Given the description of an element on the screen output the (x, y) to click on. 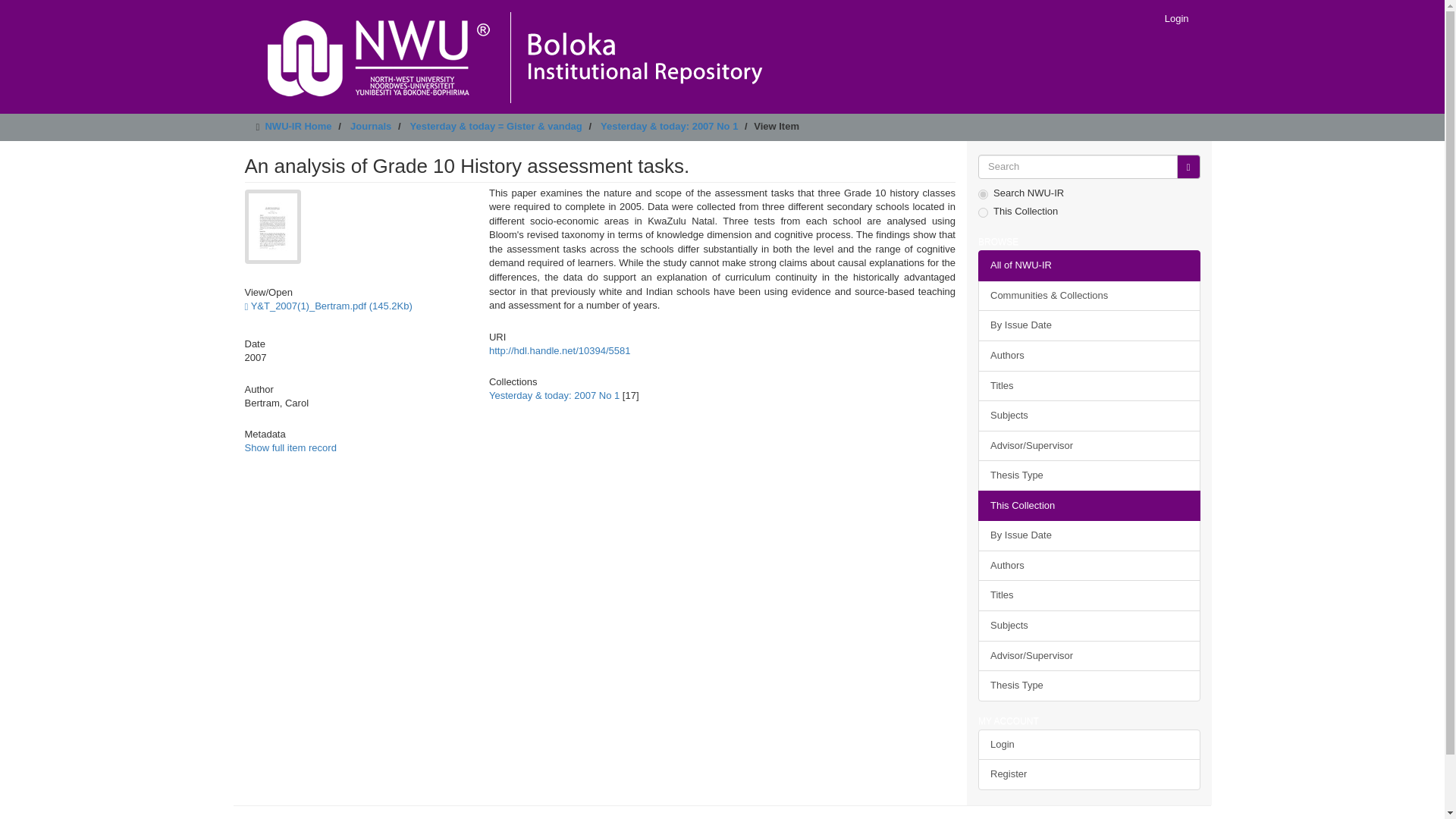
By Issue Date (1088, 535)
Titles (1088, 385)
Authors (1088, 355)
All of NWU-IR (1088, 265)
Subjects (1088, 625)
Authors (1088, 565)
By Issue Date (1088, 325)
Go (1187, 166)
Titles (1088, 594)
Subjects (1088, 415)
Thesis Type (1088, 475)
Thesis Type (1088, 685)
NWU-IR Home (297, 125)
Show full item record (290, 447)
This Collection (1088, 505)
